Given the description of an element on the screen output the (x, y) to click on. 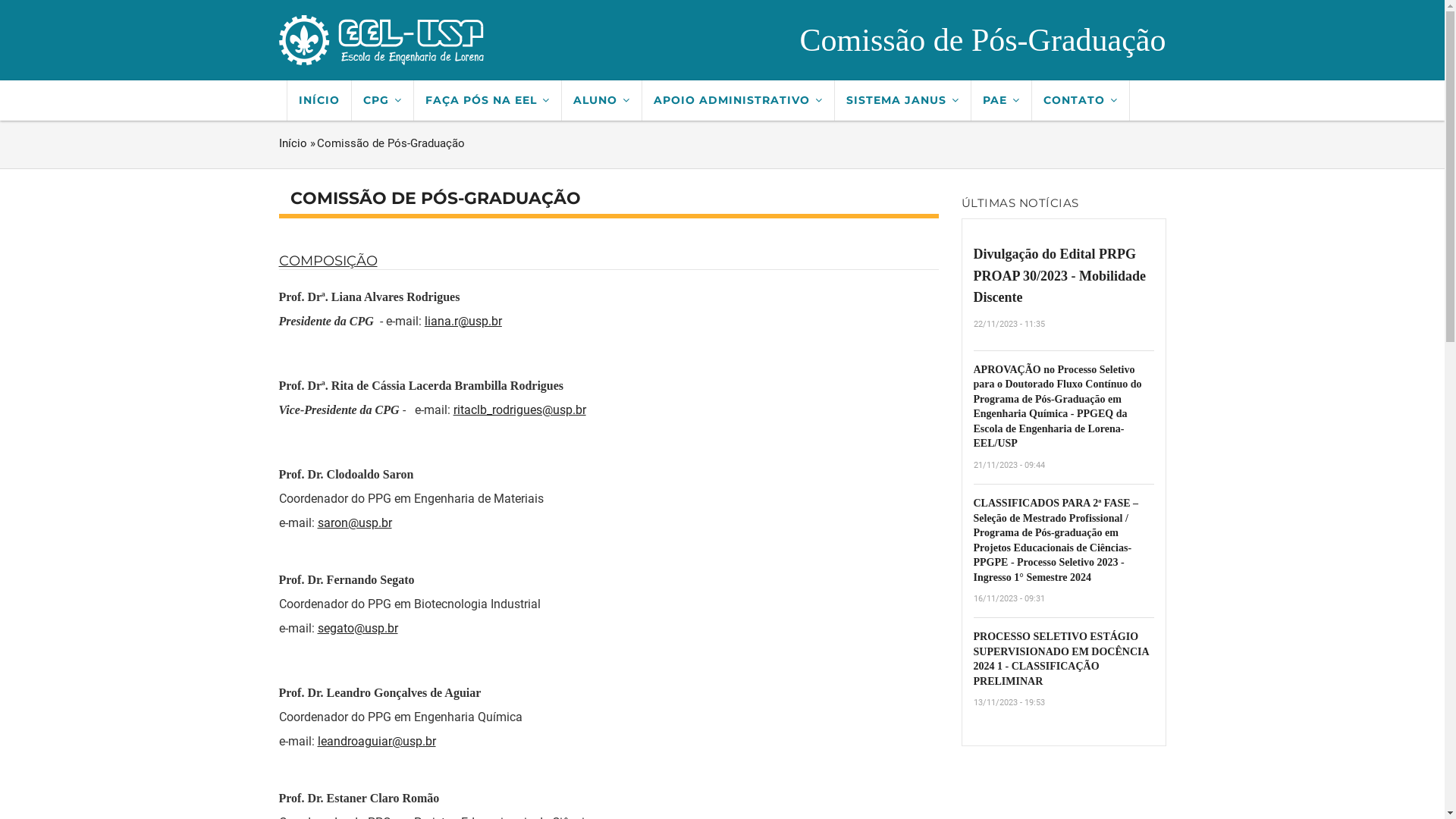
CPG Element type: text (382, 100)
segato@usp.br Element type: text (356, 628)
PAE Element type: text (1000, 100)
CONTATO Element type: text (1080, 100)
leandroaguiar@usp.br Element type: text (375, 741)
APOIO ADMINISTRATIVO Element type: text (737, 100)
liana.r@usp.br Element type: text (463, 320)
ALUNO Element type: text (601, 100)
ritaclb_rodrigues@usp.br Element type: text (519, 409)
saron@usp.br Element type: text (353, 522)
SISTEMA JANUS Element type: text (902, 100)
